Given the description of an element on the screen output the (x, y) to click on. 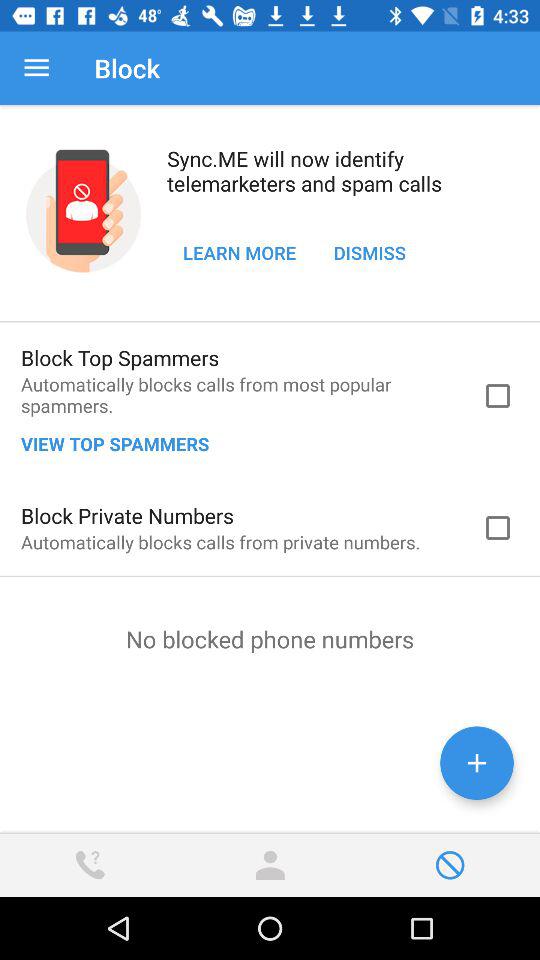
click the icon to the left of the dismiss icon (239, 252)
